Given the description of an element on the screen output the (x, y) to click on. 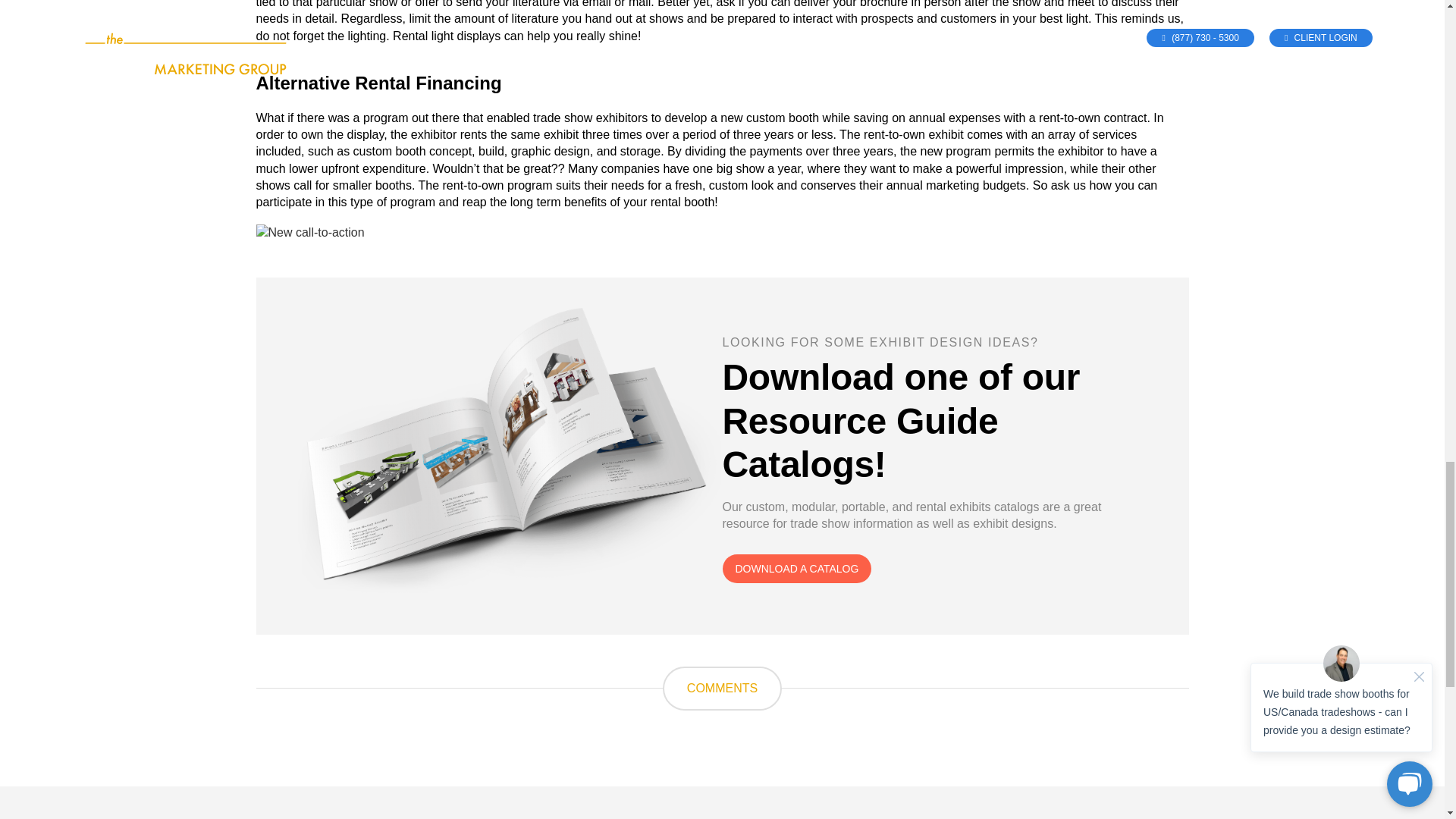
Download A Catalog (796, 568)
DOWNLOAD A CATALOG (796, 568)
CatalogMockup (509, 449)
